Given the description of an element on the screen output the (x, y) to click on. 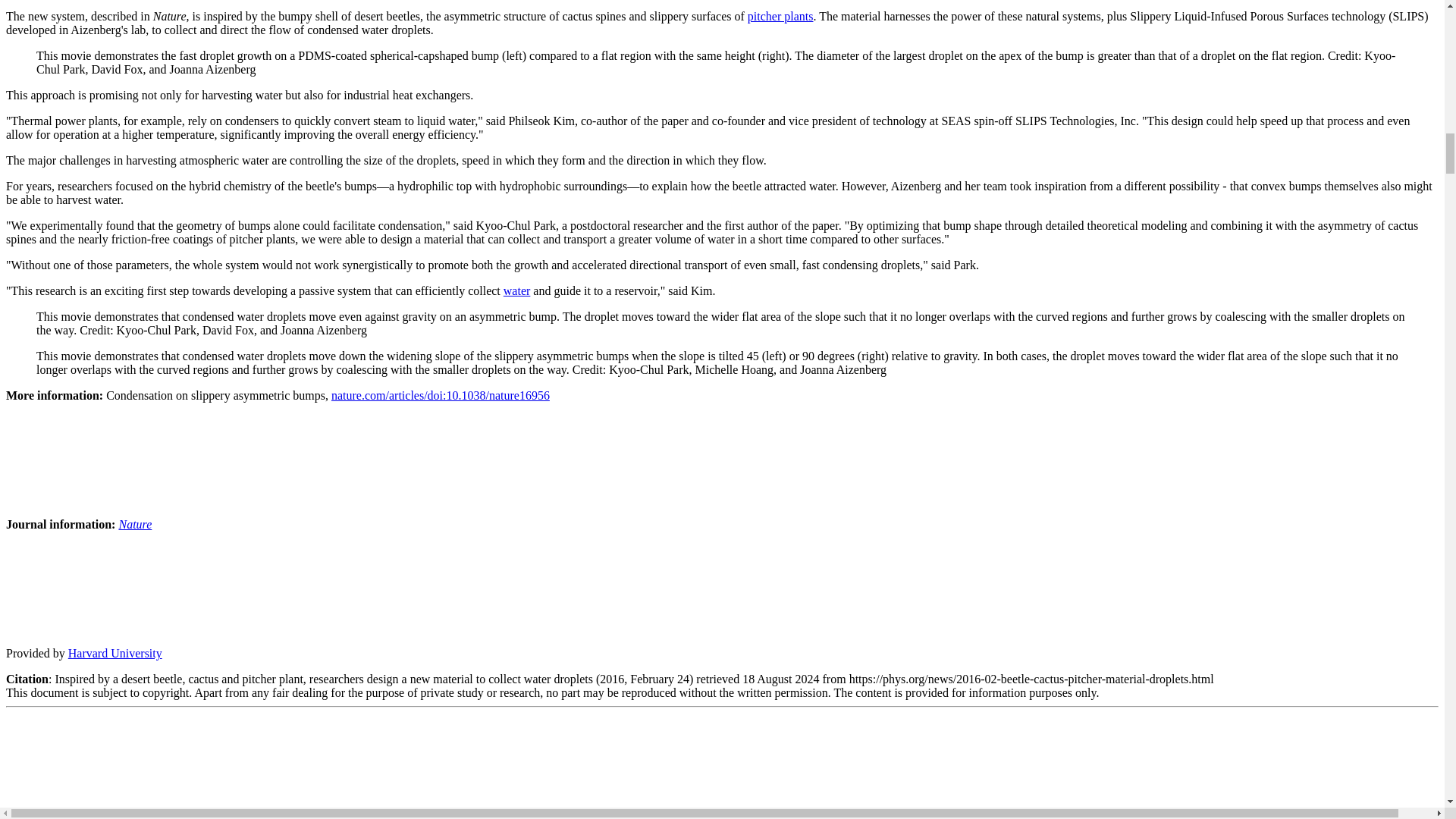
water (517, 290)
pitcher plants (780, 15)
Nature (134, 523)
